Given the description of an element on the screen output the (x, y) to click on. 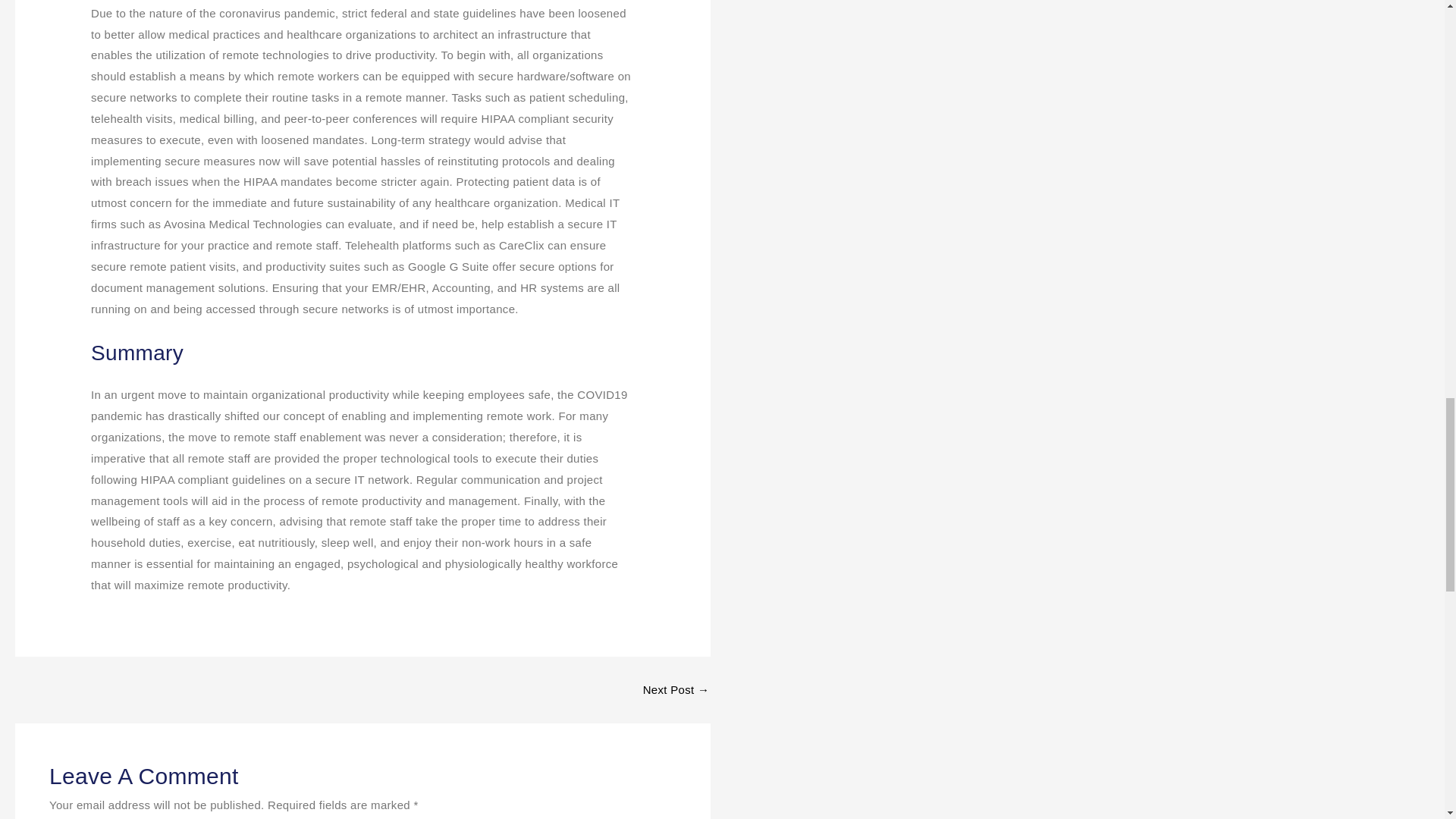
9 Common Reasons for Claim Denials (676, 689)
